Given the description of an element on the screen output the (x, y) to click on. 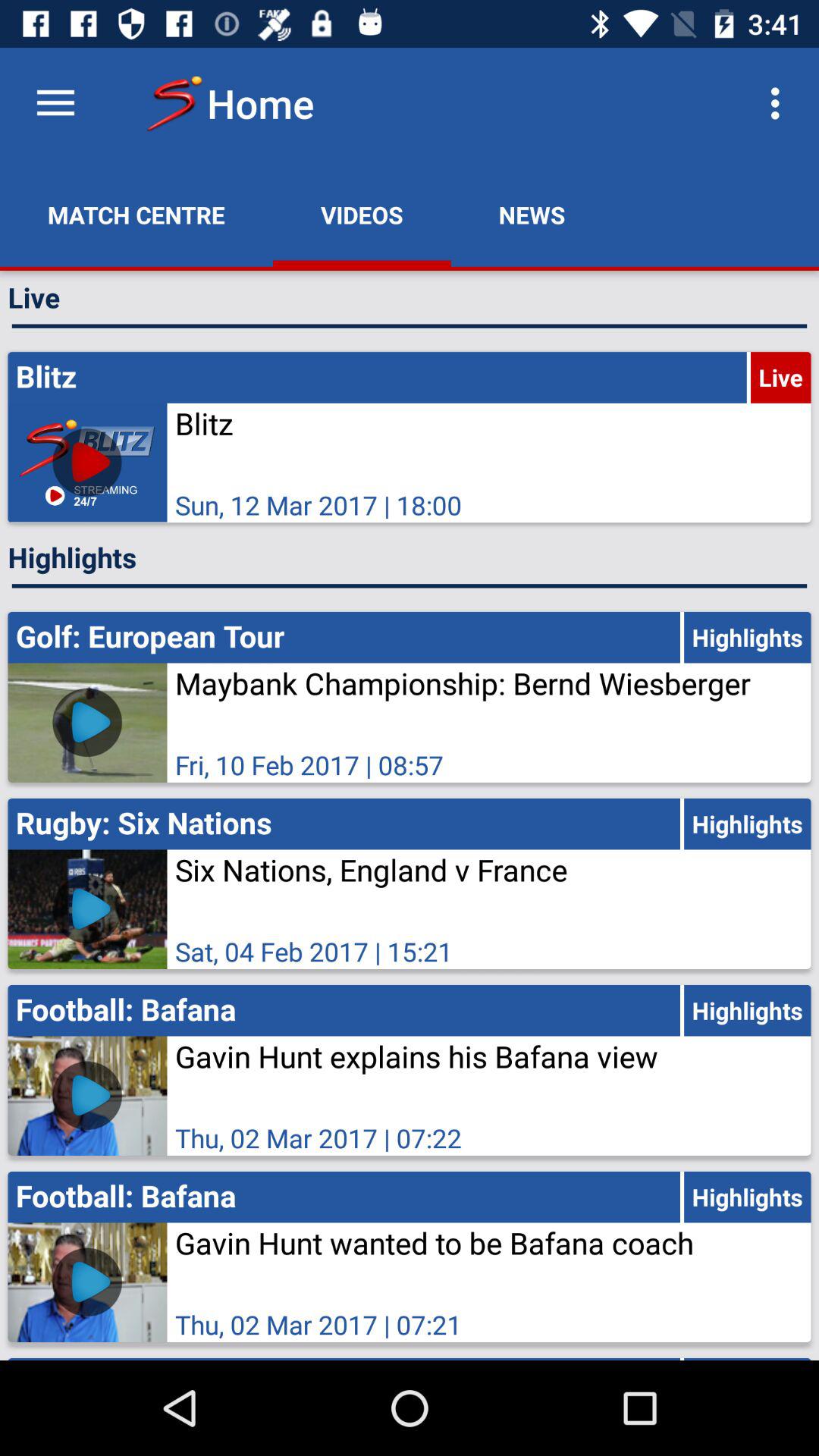
turn on the app to the left of news (362, 214)
